Given the description of an element on the screen output the (x, y) to click on. 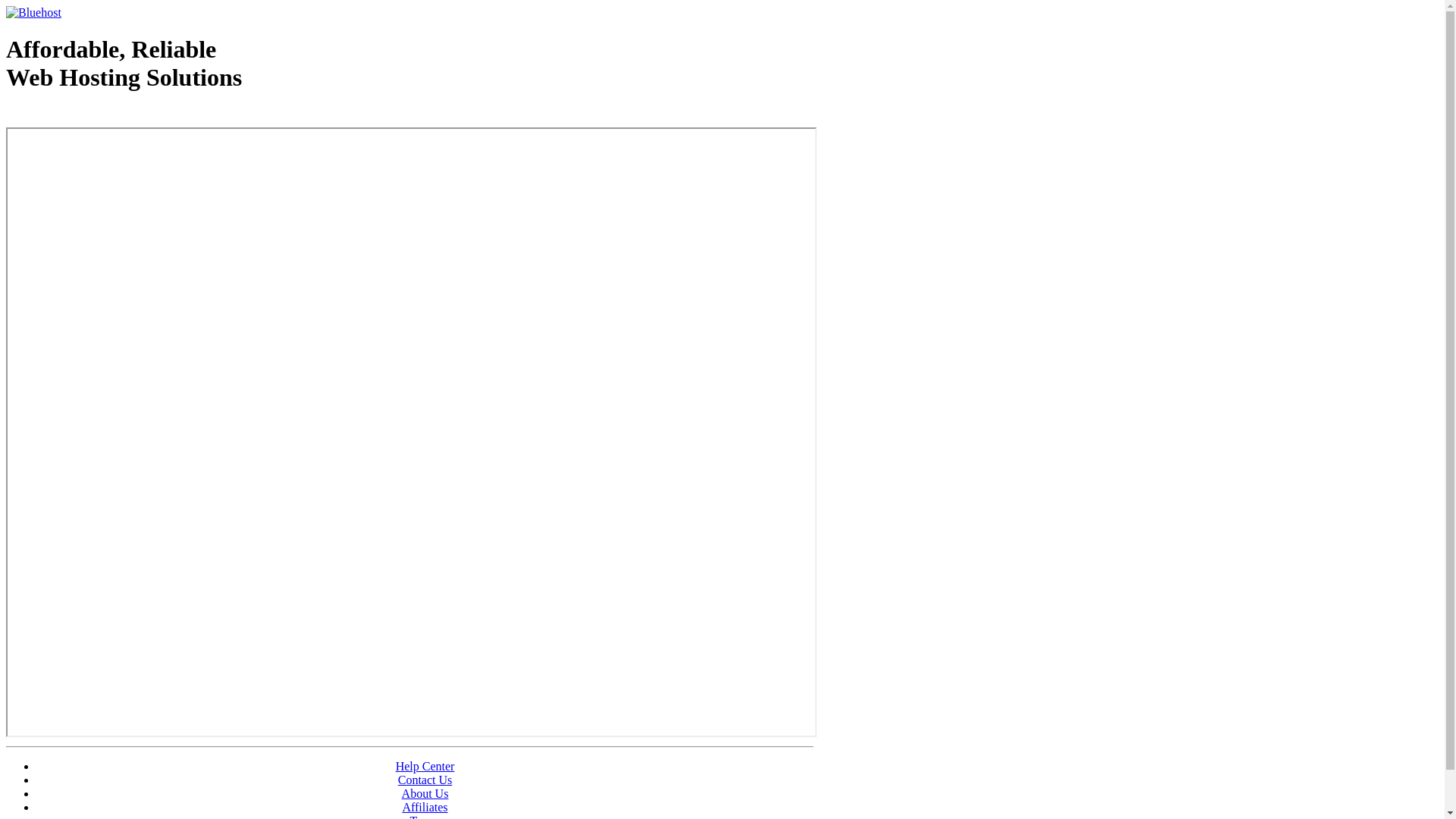
Help Center Element type: text (425, 765)
Web Hosting - courtesy of www.bluehost.com Element type: text (94, 115)
About Us Element type: text (424, 793)
Affiliates Element type: text (424, 806)
Contact Us Element type: text (425, 779)
